Given the description of an element on the screen output the (x, y) to click on. 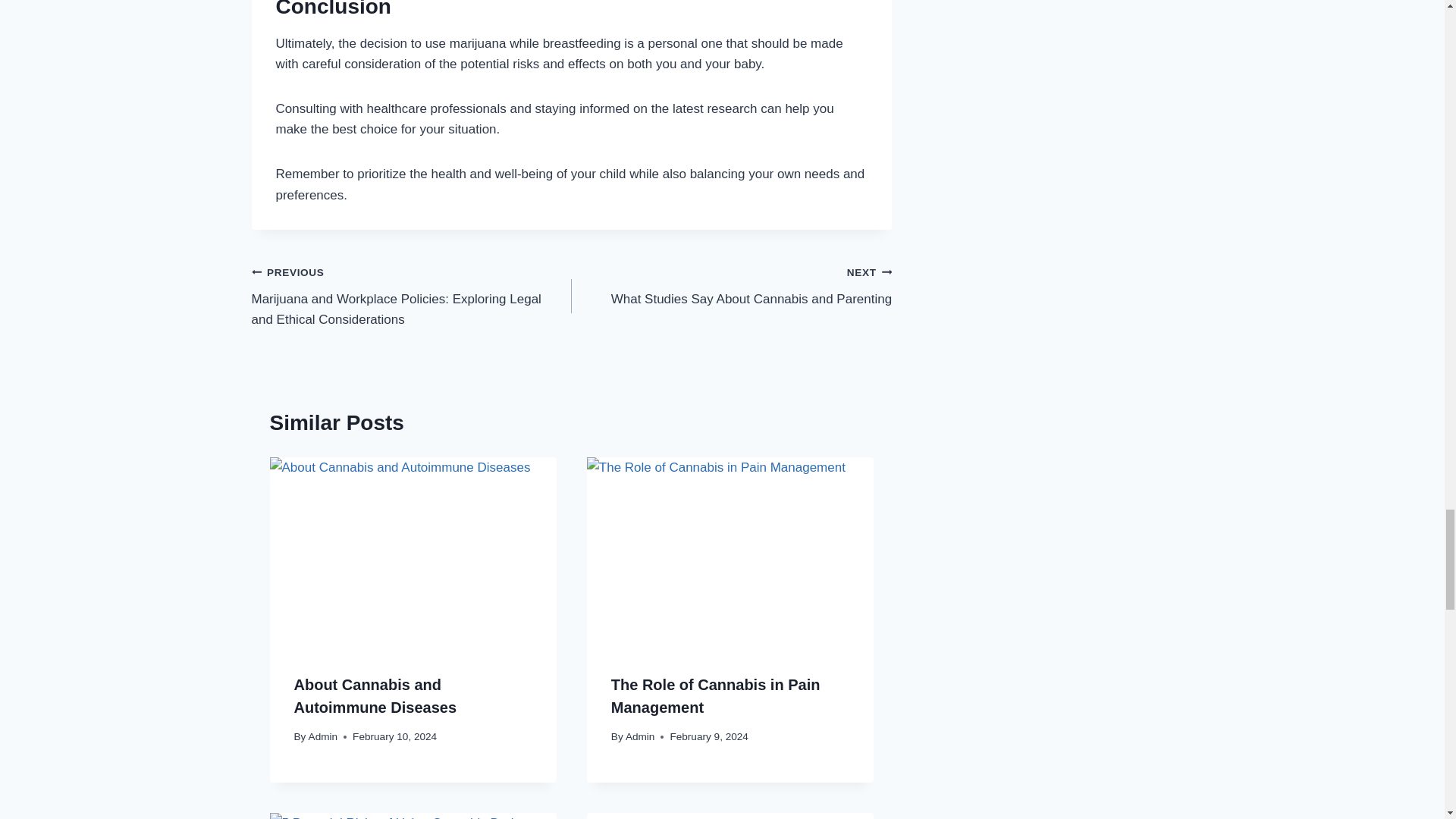
Admin (322, 736)
About Cannabis and Autoimmune Diseases (412, 552)
The Role of Cannabis in Pain Management (729, 552)
About Cannabis and Autoimmune Diseases (731, 285)
